Given the description of an element on the screen output the (x, y) to click on. 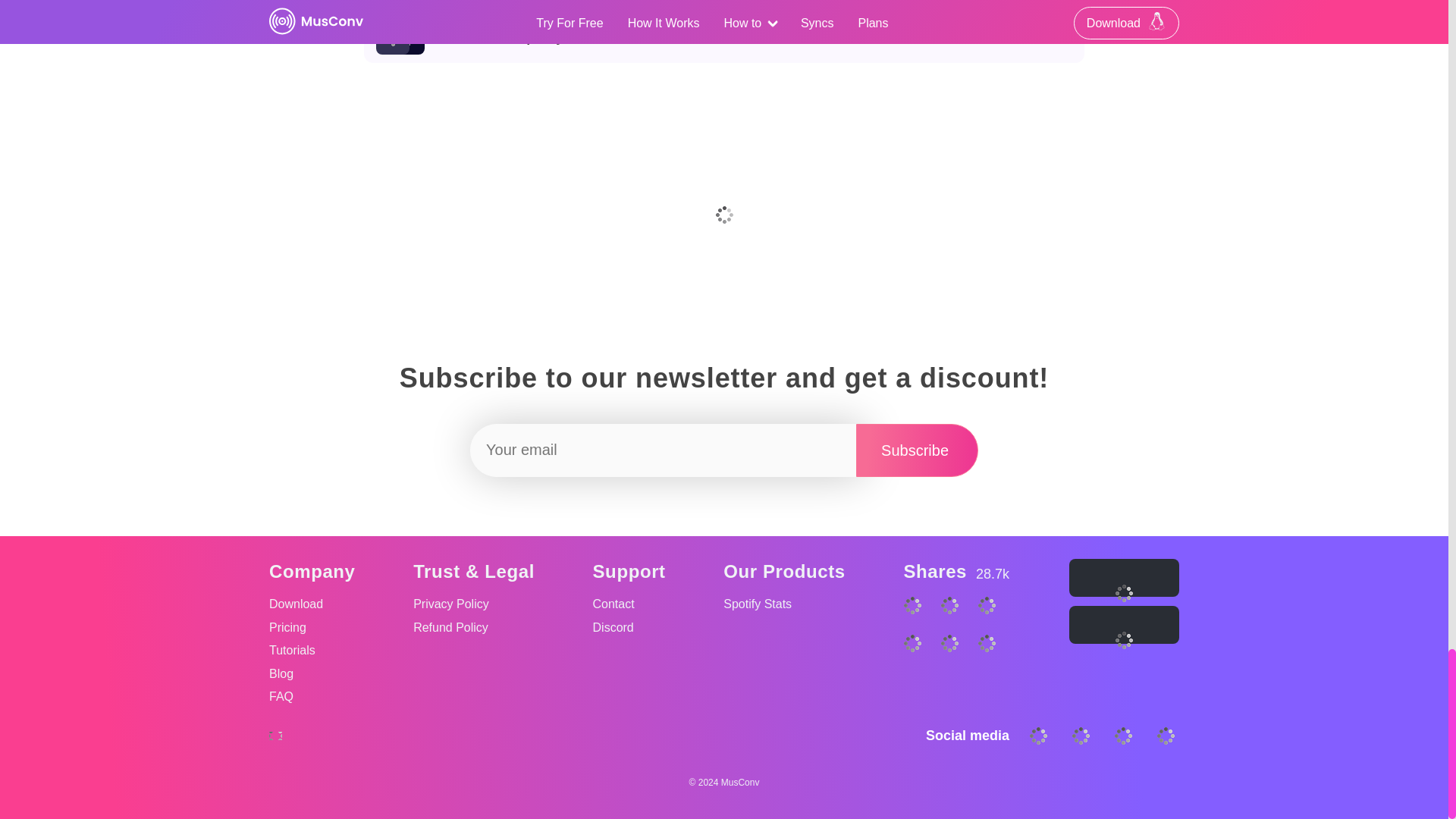
Share on Email (724, 4)
Share on Pinterest (919, 625)
Share on Facebook (919, 663)
Share on Reddit (957, 625)
Share on Twitter (957, 663)
Share on LinkedIn (993, 625)
Subscribe (993, 663)
